Given the description of an element on the screen output the (x, y) to click on. 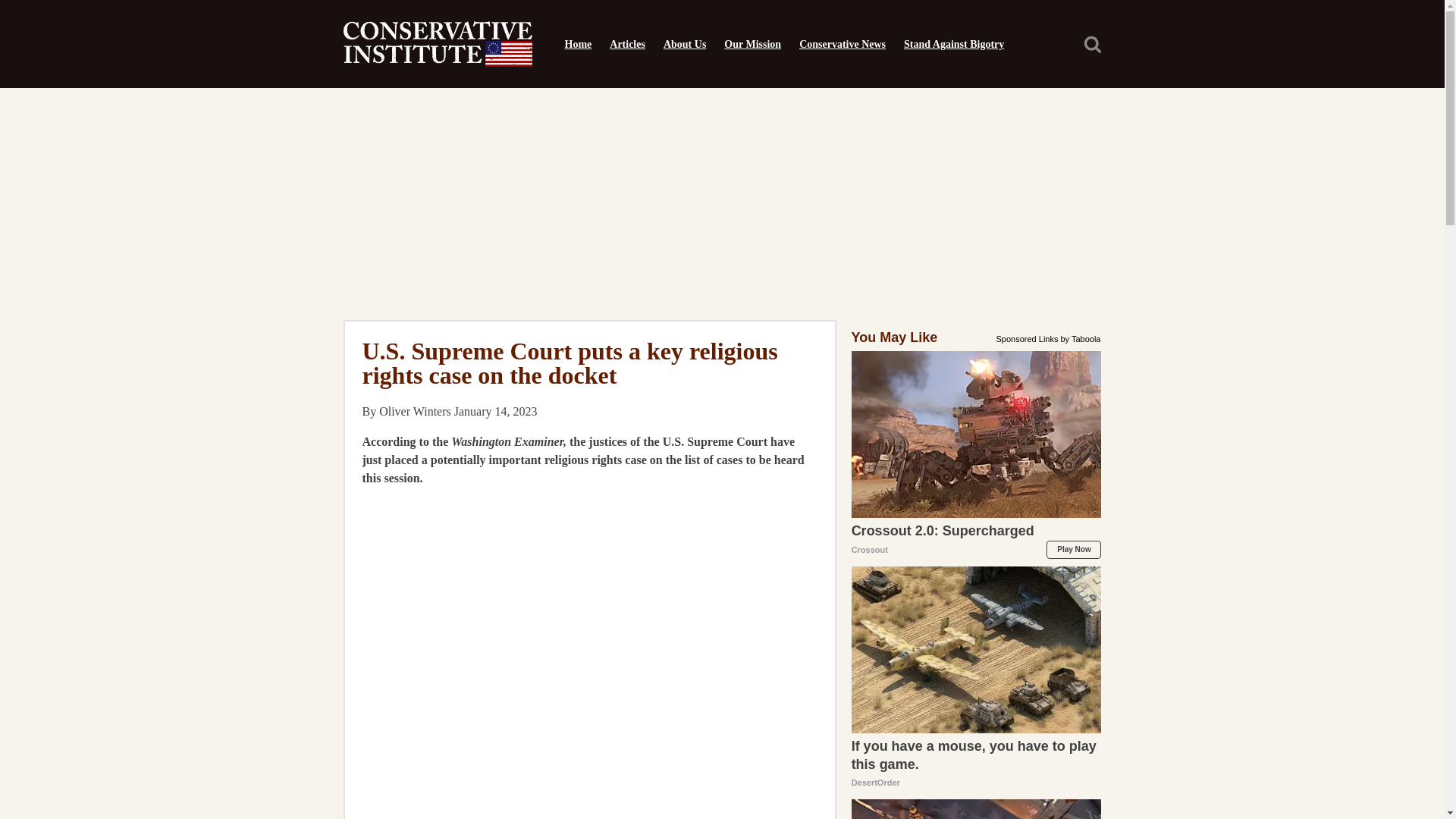
Home (576, 44)
About Us (683, 44)
Our Mission (752, 44)
Conservative News (842, 44)
Articles (626, 44)
Stand Against Bigotry (954, 44)
Oliver Winters (414, 410)
